Given the description of an element on the screen output the (x, y) to click on. 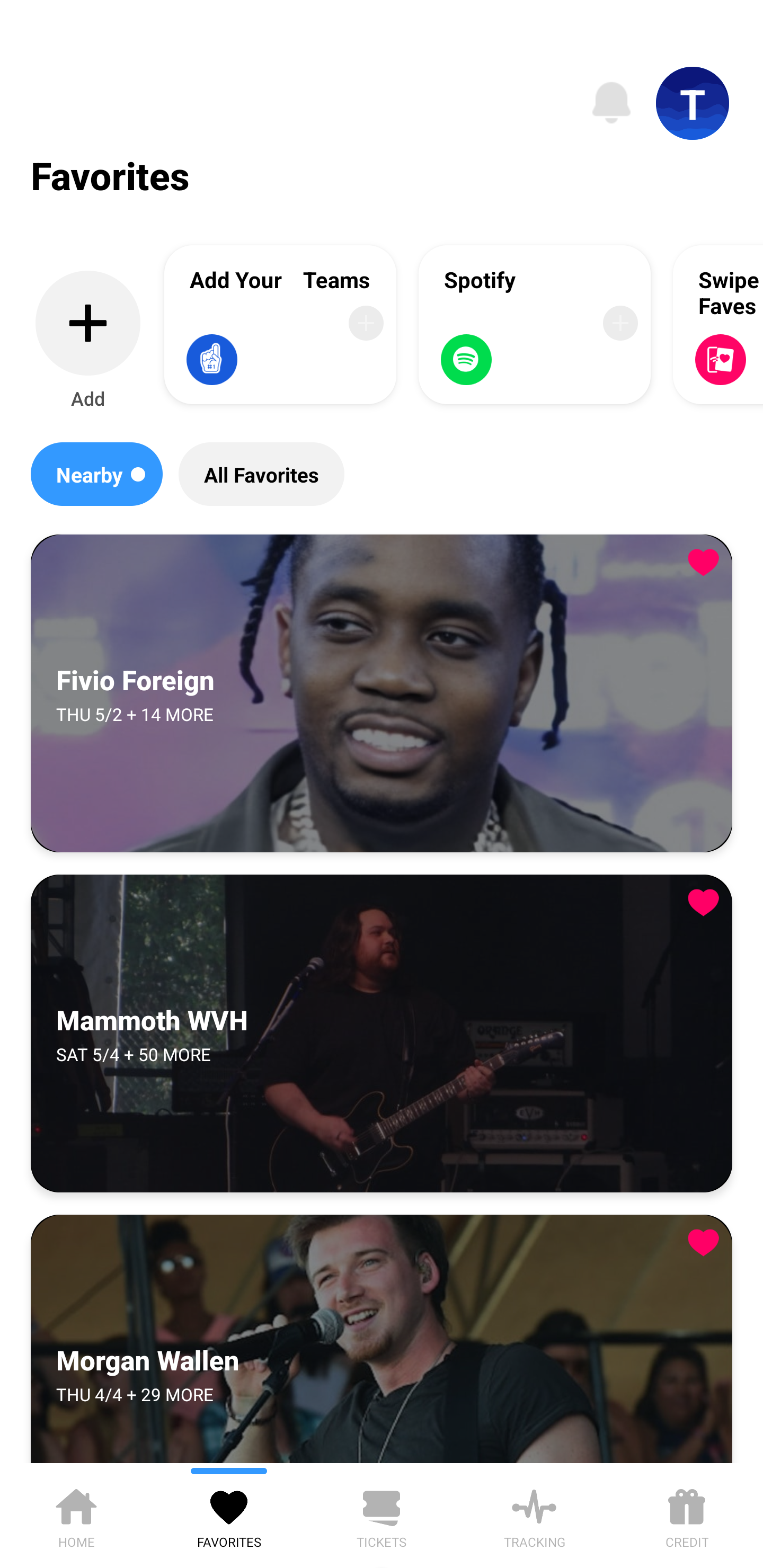
T (692, 103)
Add Your    Teams (279, 324)
Spotify (534, 324)
Add (87, 340)
Nearby (96, 474)
All Favorites (261, 474)
HOME (76, 1515)
FAVORITES (228, 1515)
TICKETS (381, 1515)
TRACKING (533, 1515)
CREDIT (686, 1515)
